Given the description of an element on the screen output the (x, y) to click on. 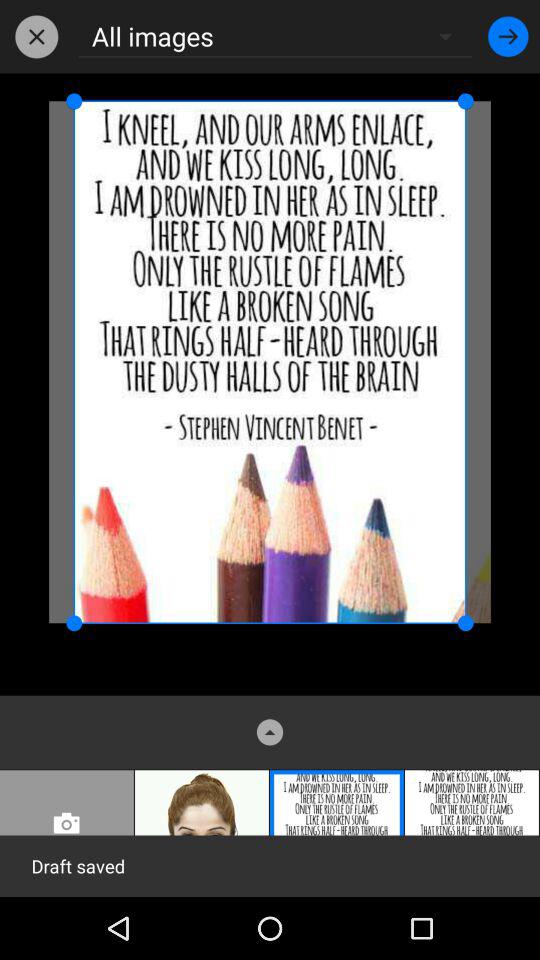
turn off the icon to the left of the all images item (36, 36)
